Given the description of an element on the screen output the (x, y) to click on. 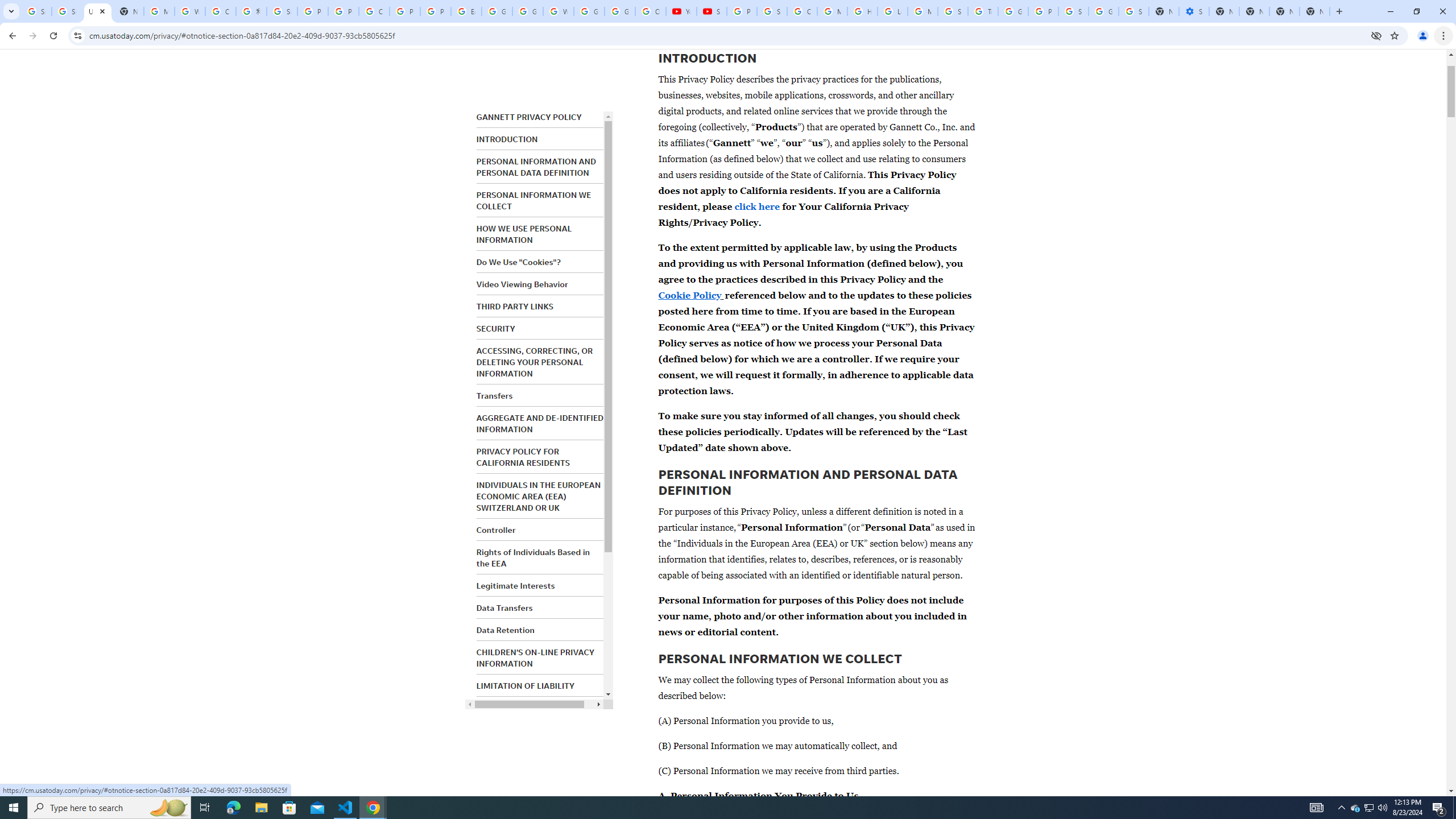
Google Cybersecurity Innovations - Google Safety Center (1103, 11)
Search our Doodle Library Collection - Google Doodles (952, 11)
Rights of Individuals Based in the EEA (532, 557)
Sign in - Google Accounts (66, 11)
View site information (77, 35)
Trusted Information and Content - Google Safety Center (982, 11)
Reload (52, 35)
Chrome (1445, 35)
Do We Use "Cookies"? (518, 261)
